Given the description of an element on the screen output the (x, y) to click on. 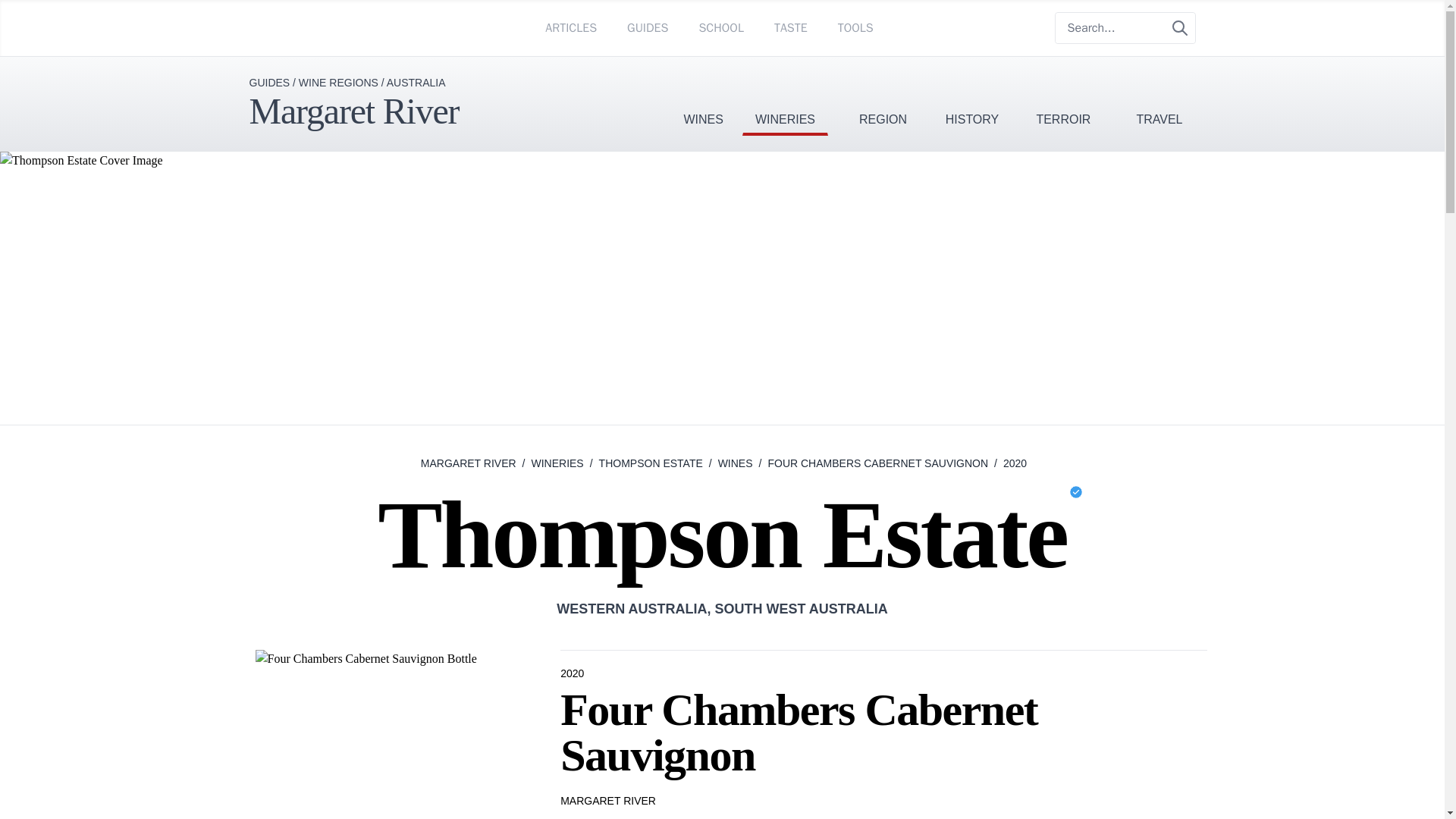
GUIDES (647, 27)
TOOLS (855, 27)
Margaret River (353, 110)
ARTICLES (570, 27)
REGION (882, 95)
WINERIES (785, 95)
WINE REGIONS (338, 82)
TRAVEL (1158, 95)
2020 (573, 672)
SCHOOL (720, 27)
